Given the description of an element on the screen output the (x, y) to click on. 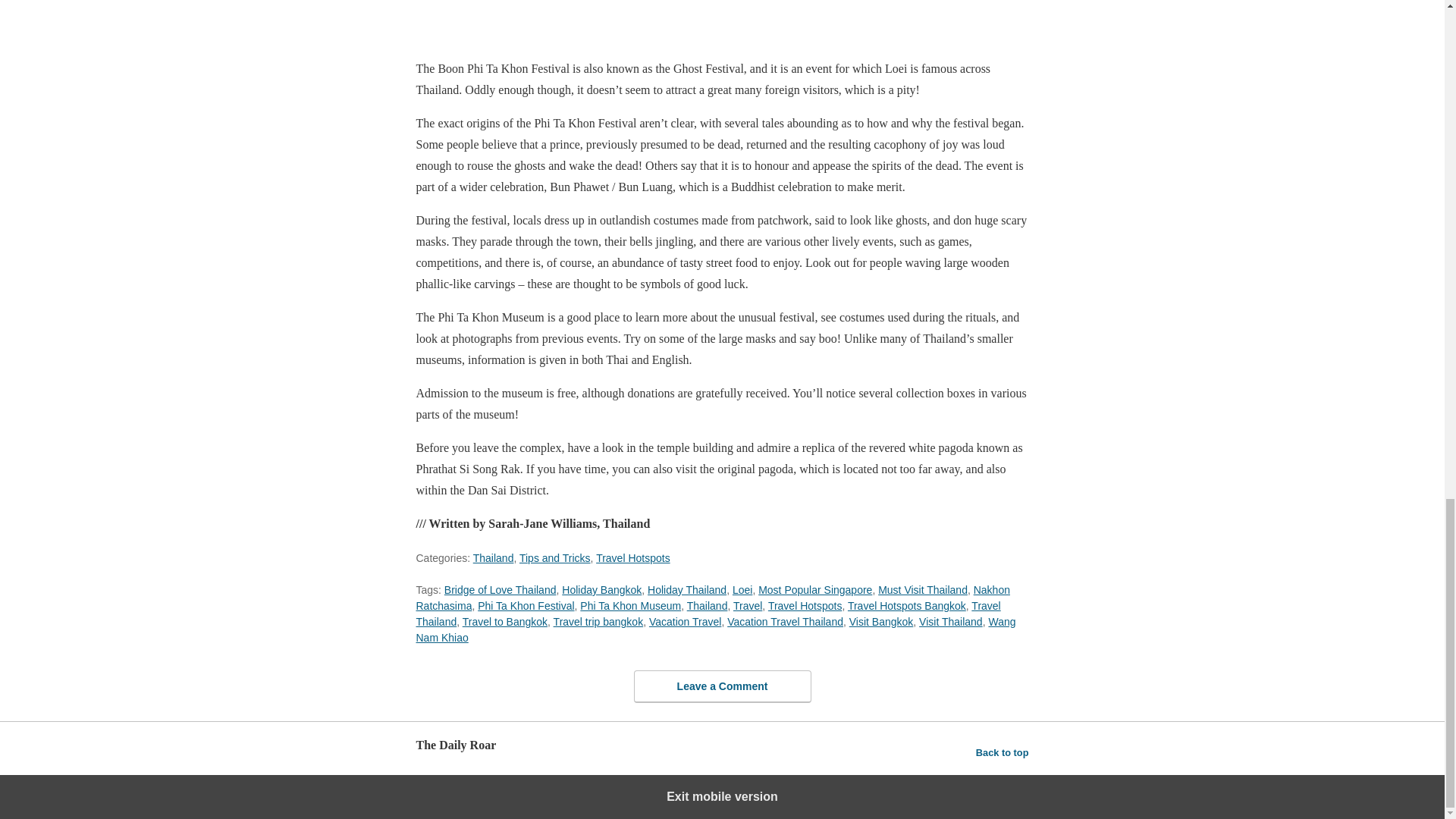
Travel Hotspots (805, 605)
Phi Ta Khon Festival (525, 605)
Most Popular Singapore (815, 589)
Thailand (707, 605)
Loei (742, 589)
Must Visit Thailand (922, 589)
Leave a Comment (721, 685)
Phi Ta Khon Museum (630, 605)
Travel Thailand (707, 613)
Travel to Bangkok (505, 621)
